Given the description of an element on the screen output the (x, y) to click on. 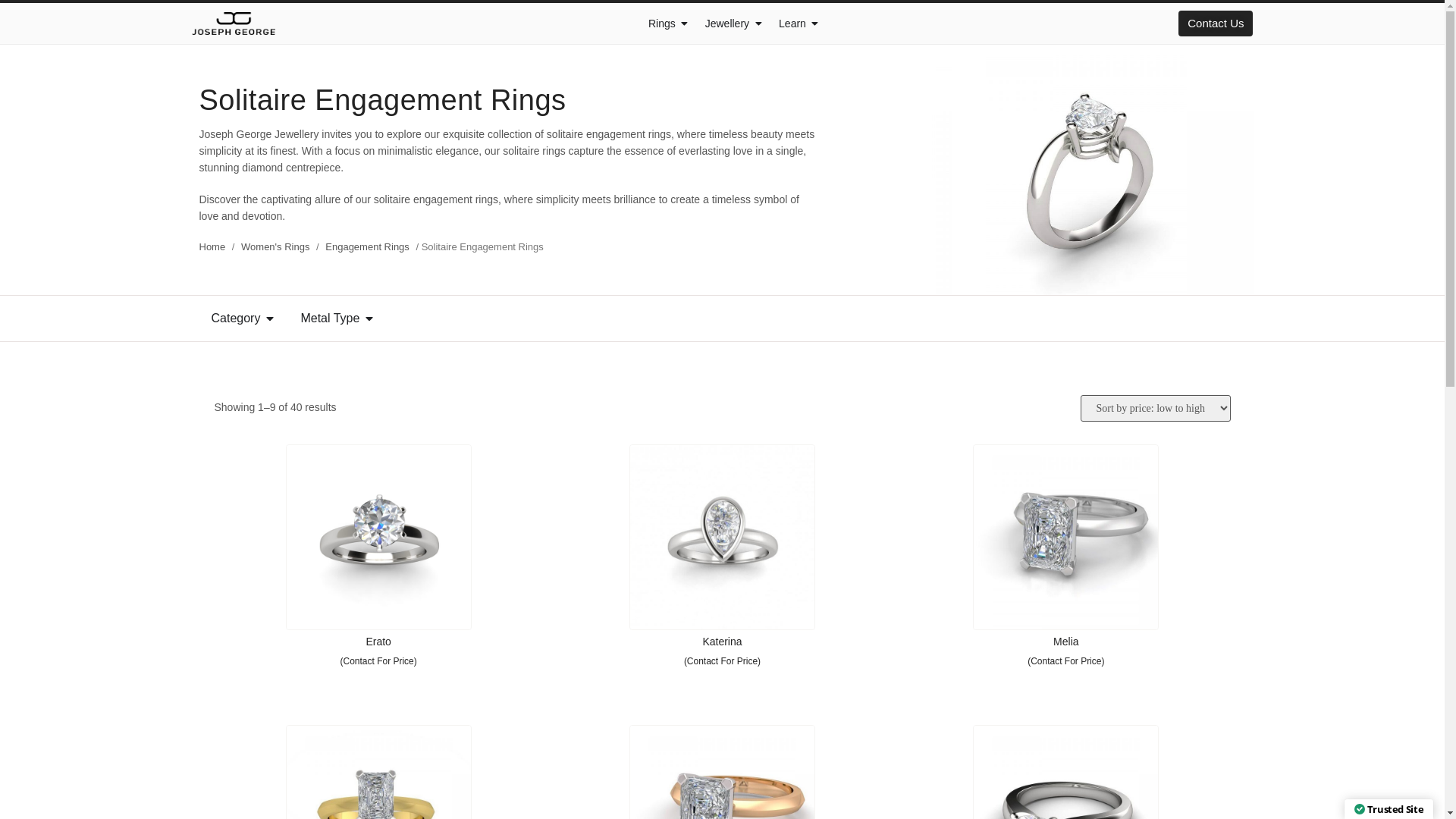
Home Element type: text (211, 246)
Women'S Rings Element type: text (275, 246)
Contact Us Element type: text (1215, 23)
Erato
(Contact For Price) Element type: text (377, 559)
Engagement Rings Element type: text (367, 246)
Katerina
(Contact For Price) Element type: text (722, 559)
Melia
(Contact For Price) Element type: text (1065, 559)
